Given the description of an element on the screen output the (x, y) to click on. 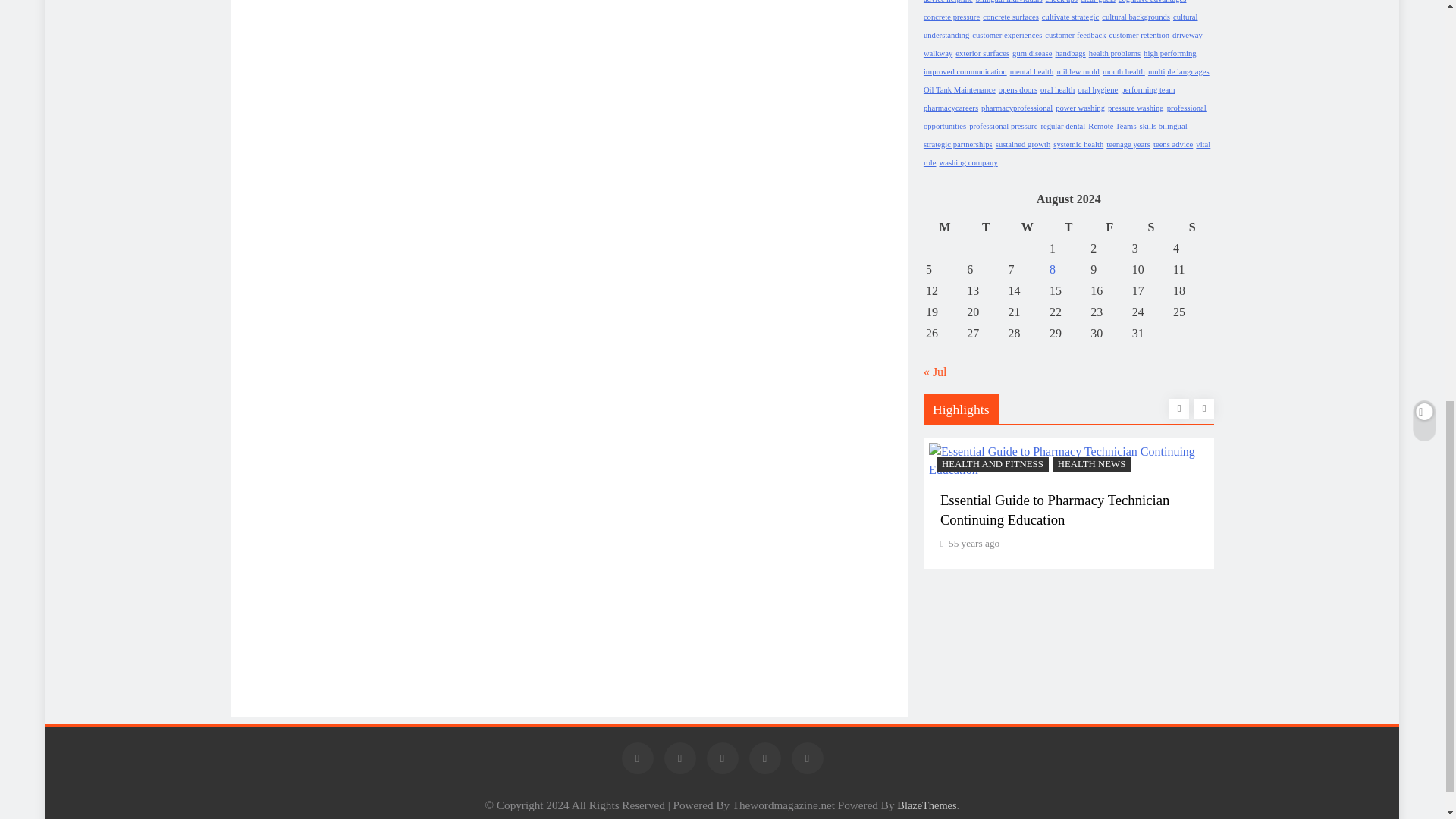
Friday (1109, 227)
Tuesday (986, 227)
Wednesday (1026, 227)
Saturday (1150, 227)
Essential Guide to Pharmacy Technician Continuing Education (1068, 461)
Sunday (1191, 227)
Monday (943, 227)
Thursday (1067, 227)
